Given the description of an element on the screen output the (x, y) to click on. 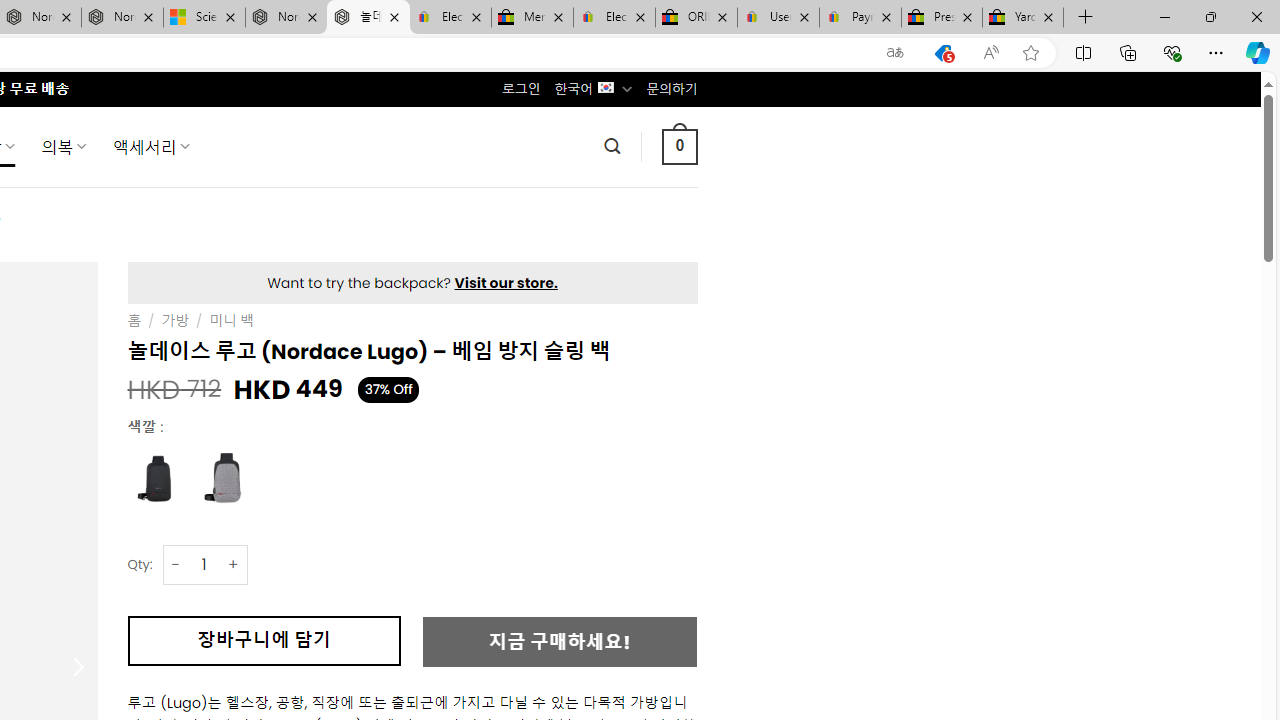
  0   (679, 146)
- (175, 564)
Payments Terms of Use | eBay.com (860, 17)
You have the best price! (943, 53)
Show translate options (895, 53)
Yard, Garden & Outdoor Living (1023, 17)
